Given the description of an element on the screen output the (x, y) to click on. 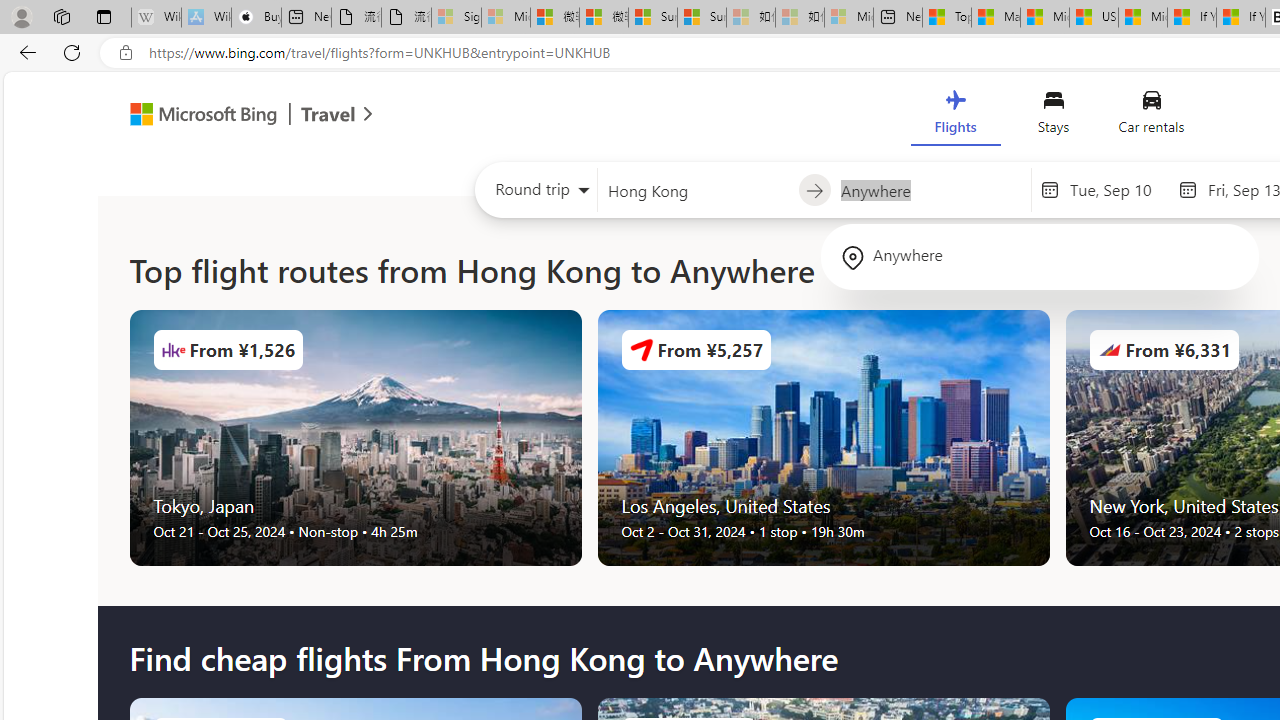
Microsoft account | Account Checkup - Sleeping (848, 17)
Buy iPad - Apple (256, 17)
Travel (328, 116)
Stays (1053, 116)
Going to? (930, 190)
to (814, 191)
Sign in to your Microsoft account - Sleeping (456, 17)
US Heat Deaths Soared To Record High Last Year (1093, 17)
Wikipedia - Sleeping (155, 17)
Select trip type (535, 193)
Marine life - MSN (995, 17)
Class: msft-travel-logo (328, 114)
